Given the description of an element on the screen output the (x, y) to click on. 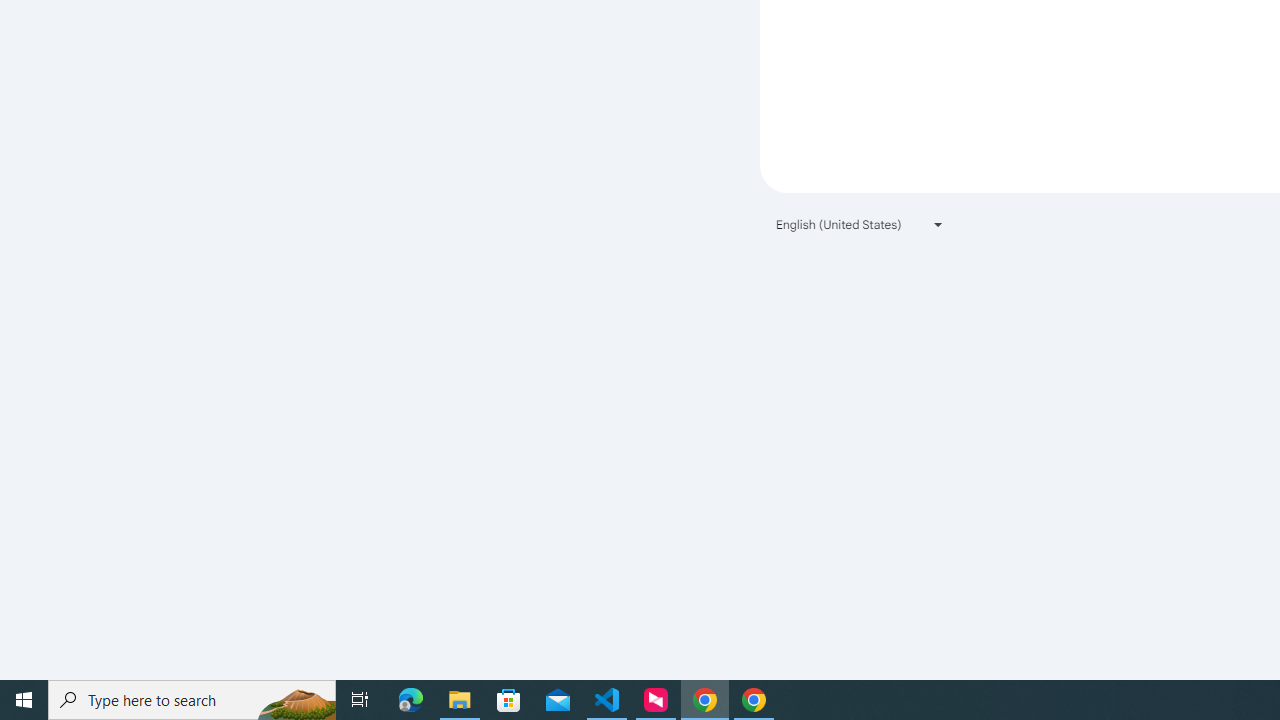
English (United States) (860, 224)
